Given the description of an element on the screen output the (x, y) to click on. 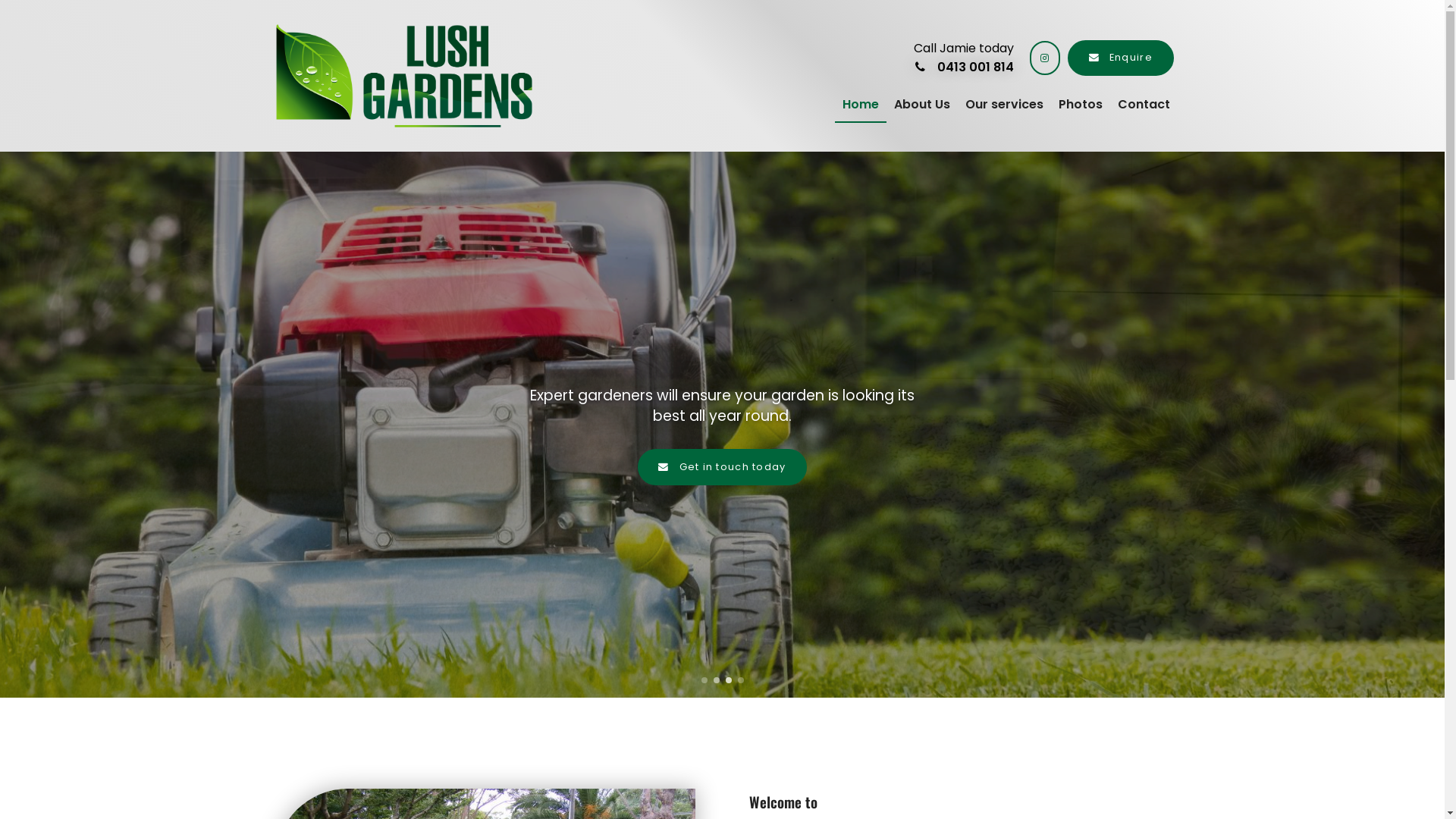
About Us Element type: text (921, 105)
Enquire Element type: text (1120, 58)
Get in touch today Element type: text (721, 466)
Home Element type: text (859, 105)
Photos Element type: text (1080, 105)
Contact Element type: text (1143, 105)
Our services Element type: text (1003, 105)
